Given the description of an element on the screen output the (x, y) to click on. 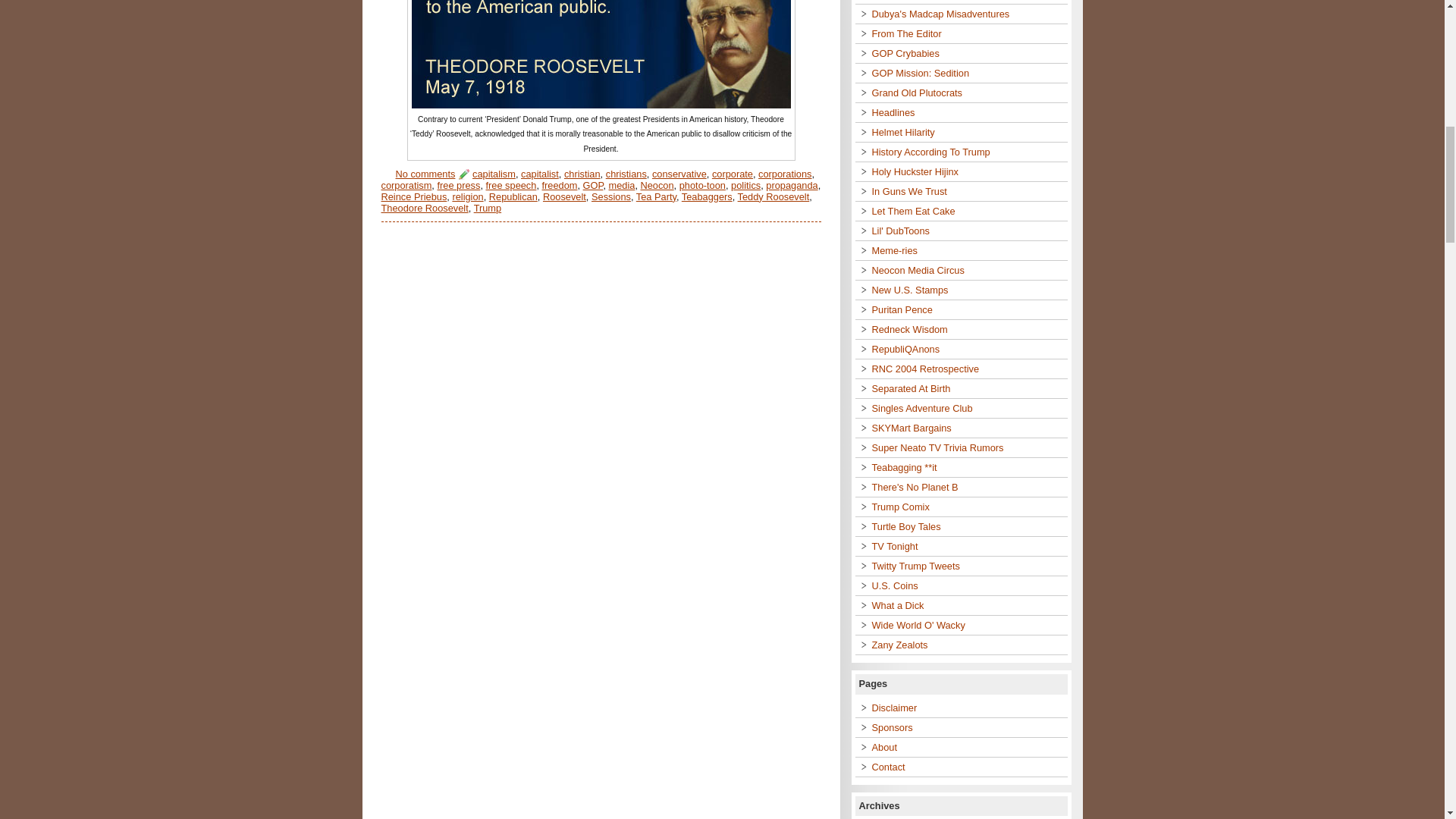
free press (458, 184)
GOP (593, 184)
corporatism (405, 184)
christian (581, 173)
conservative (679, 173)
capitalism (493, 173)
capitalist (540, 173)
No comments (425, 173)
free speech (511, 184)
freedom (559, 184)
